Given the description of an element on the screen output the (x, y) to click on. 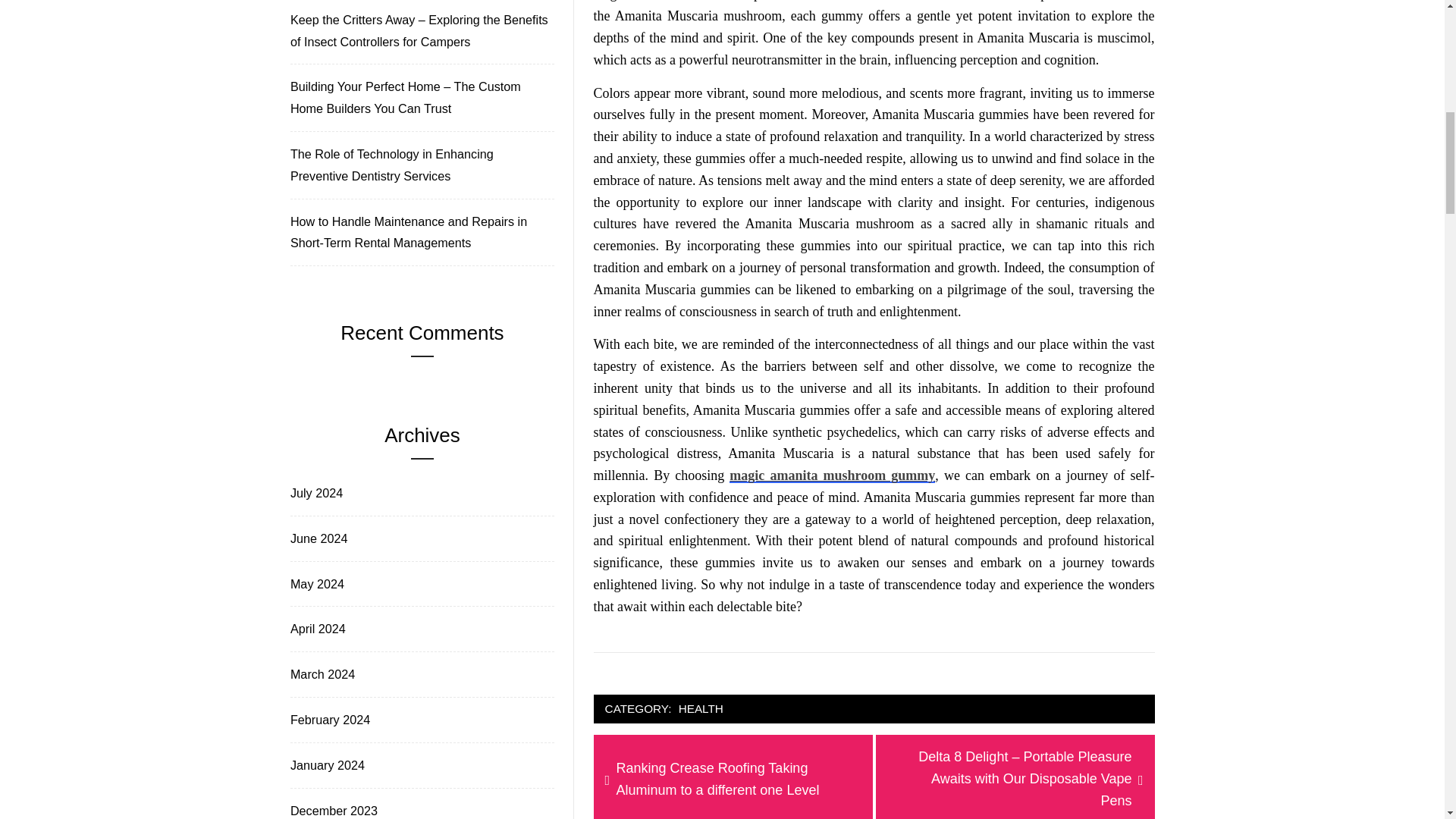
March 2024 (320, 674)
February 2024 (328, 720)
magic amanita mushroom gummy (831, 475)
June 2024 (316, 538)
January 2024 (325, 765)
July 2024 (314, 493)
HEALTH (700, 709)
